Given the description of an element on the screen output the (x, y) to click on. 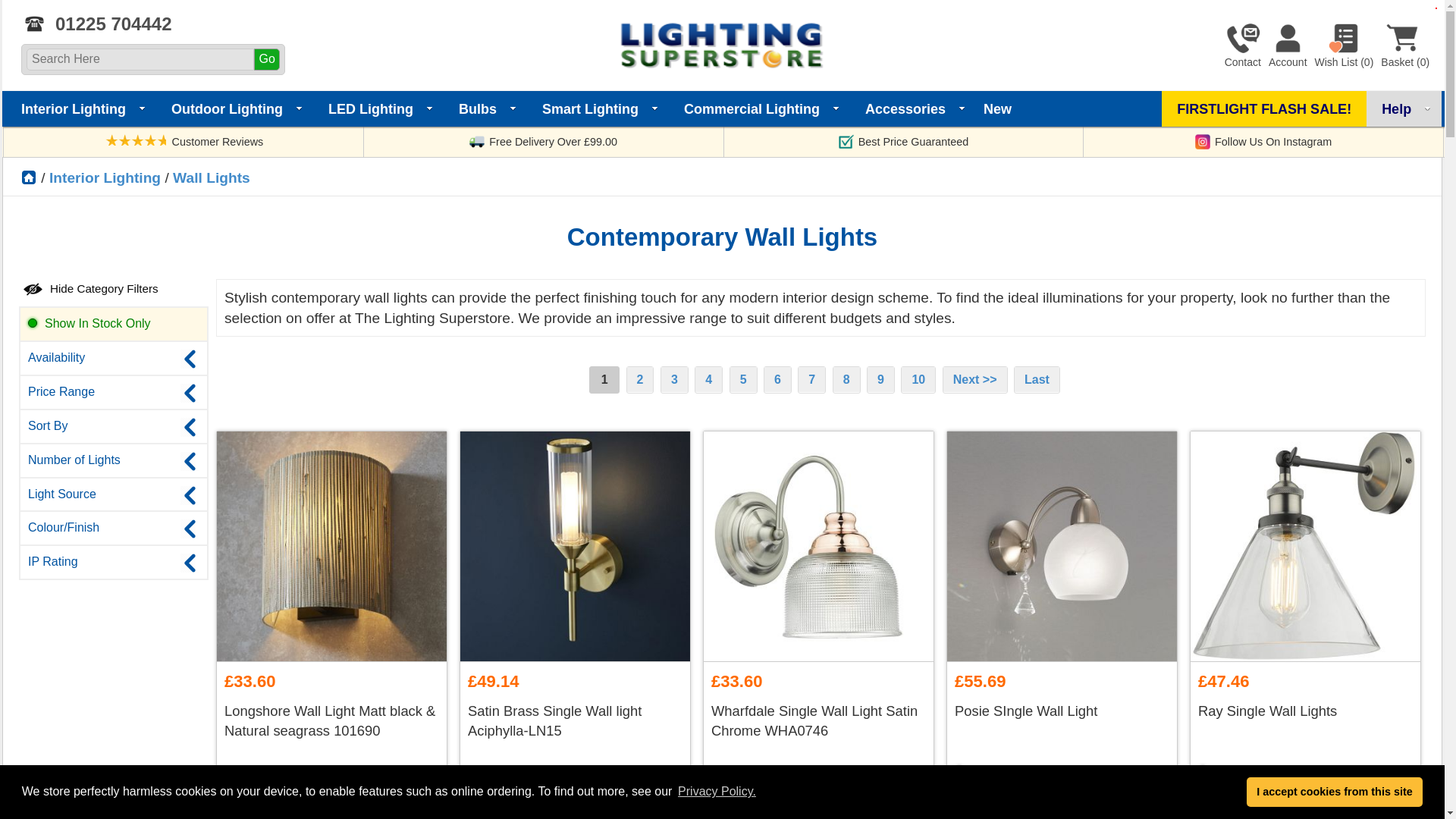
Interior Lighting (80, 108)
Search for Products or Information (266, 59)
Go (266, 59)
Go (266, 59)
I accept cookies from this site (1334, 791)
Privacy Policy. (716, 791)
Go (266, 59)
01225 704442 (97, 23)
Account (1287, 43)
Contact (1242, 43)
